Given the description of an element on the screen output the (x, y) to click on. 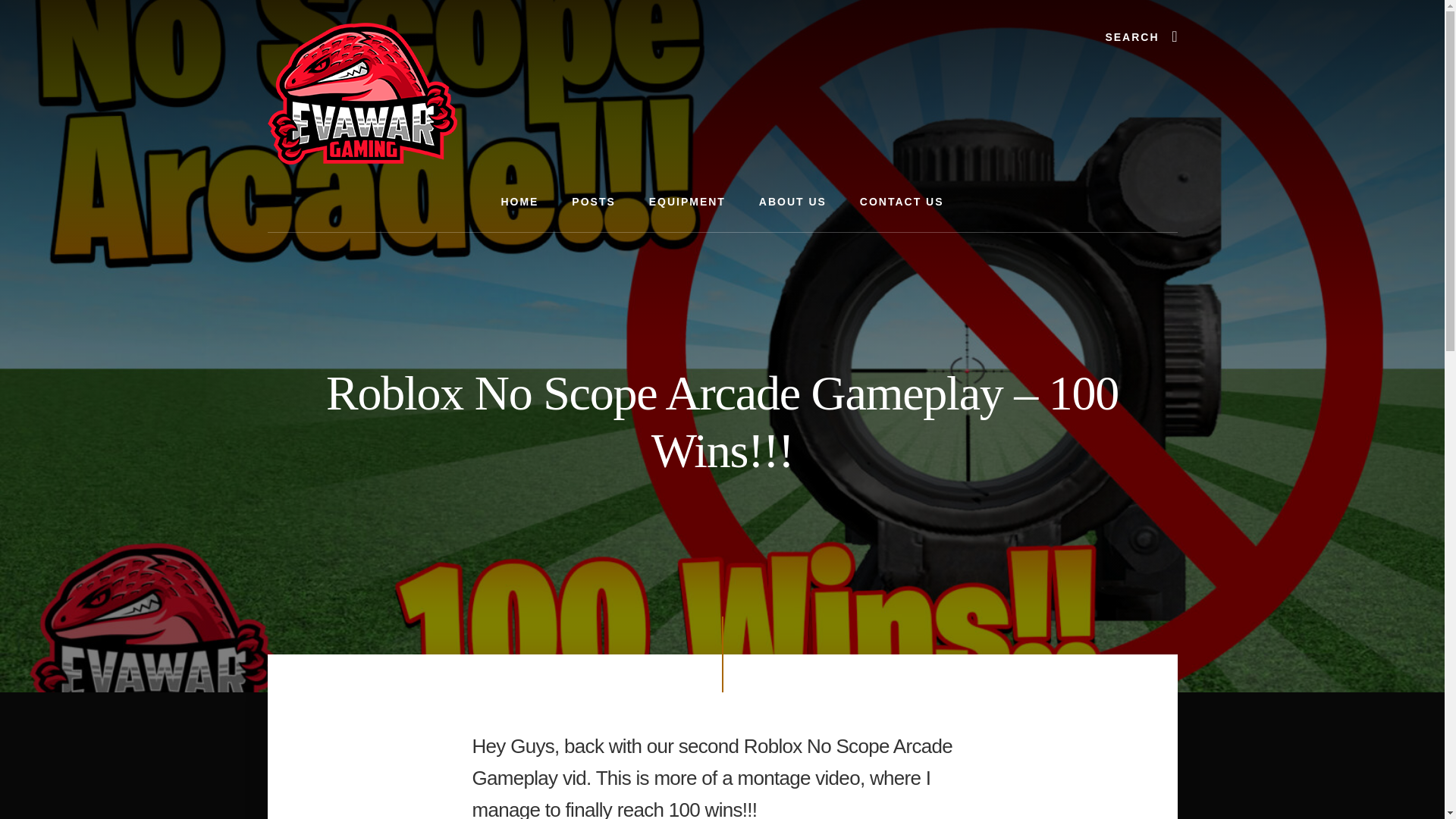
HOME (518, 201)
CONTACT US (901, 201)
ABOUT US (792, 201)
POSTS (593, 201)
EQUIPMENT (687, 201)
